Given the description of an element on the screen output the (x, y) to click on. 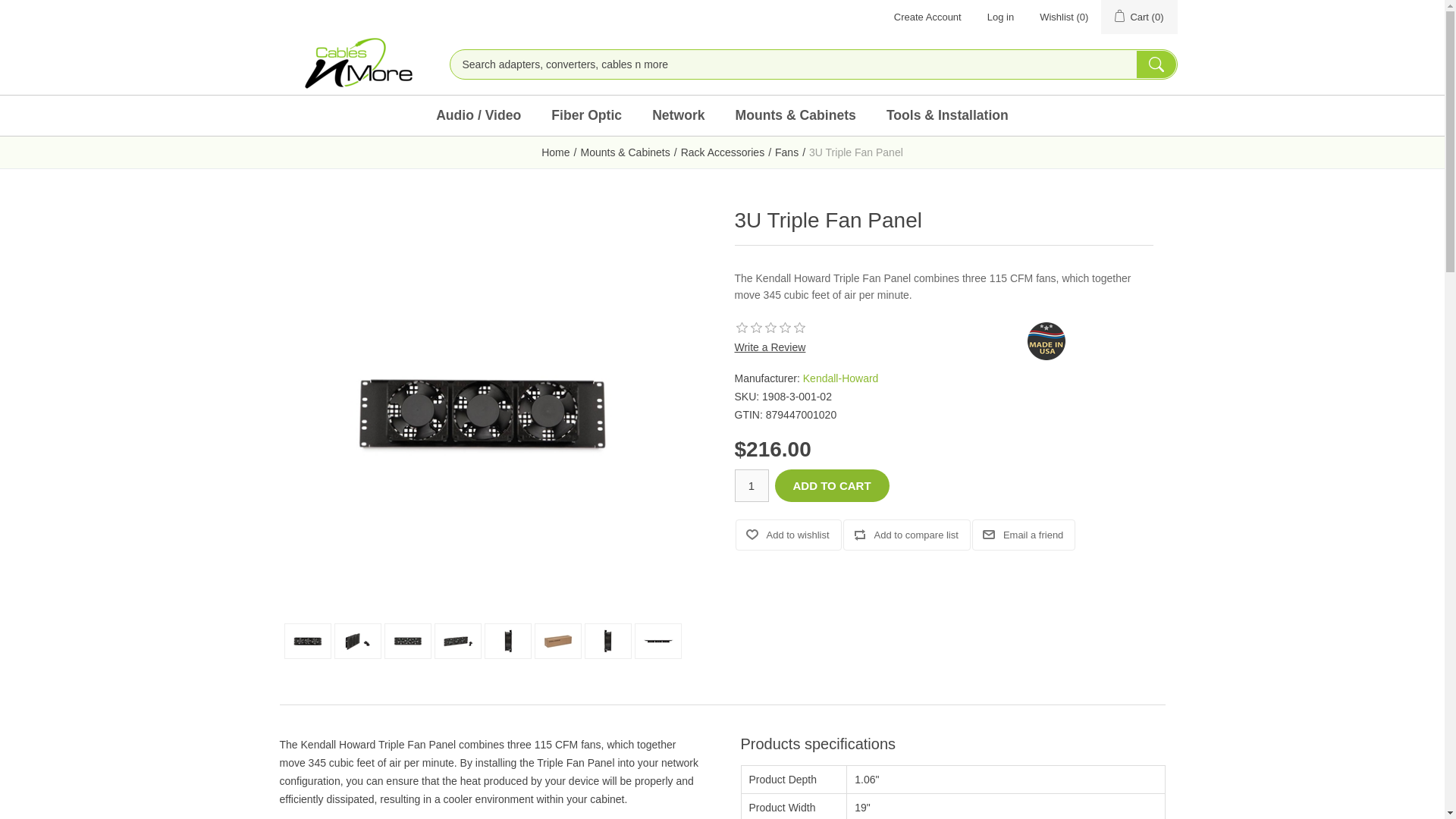
Network (678, 115)
Picture of 3U Triple Fan Panel (307, 641)
Picture of 3U Triple Fan Panel (307, 641)
Picture of 3U Triple Fan Panel (407, 641)
Picture of 3U Triple Fan Panel (407, 641)
Picture of 3U Triple Fan Panel (357, 641)
Email a friend (1023, 534)
Fiber Optic (585, 115)
Picture of 3U Triple Fan Panel (482, 411)
Picture of 3U Triple Fan Panel (557, 641)
Add to compare list (907, 534)
Picture of 3U Triple Fan Panel (457, 641)
Picture of 3U Triple Fan Panel (608, 641)
Picture of 3U Triple Fan Panel (357, 641)
1 (750, 485)
